Given the description of an element on the screen output the (x, y) to click on. 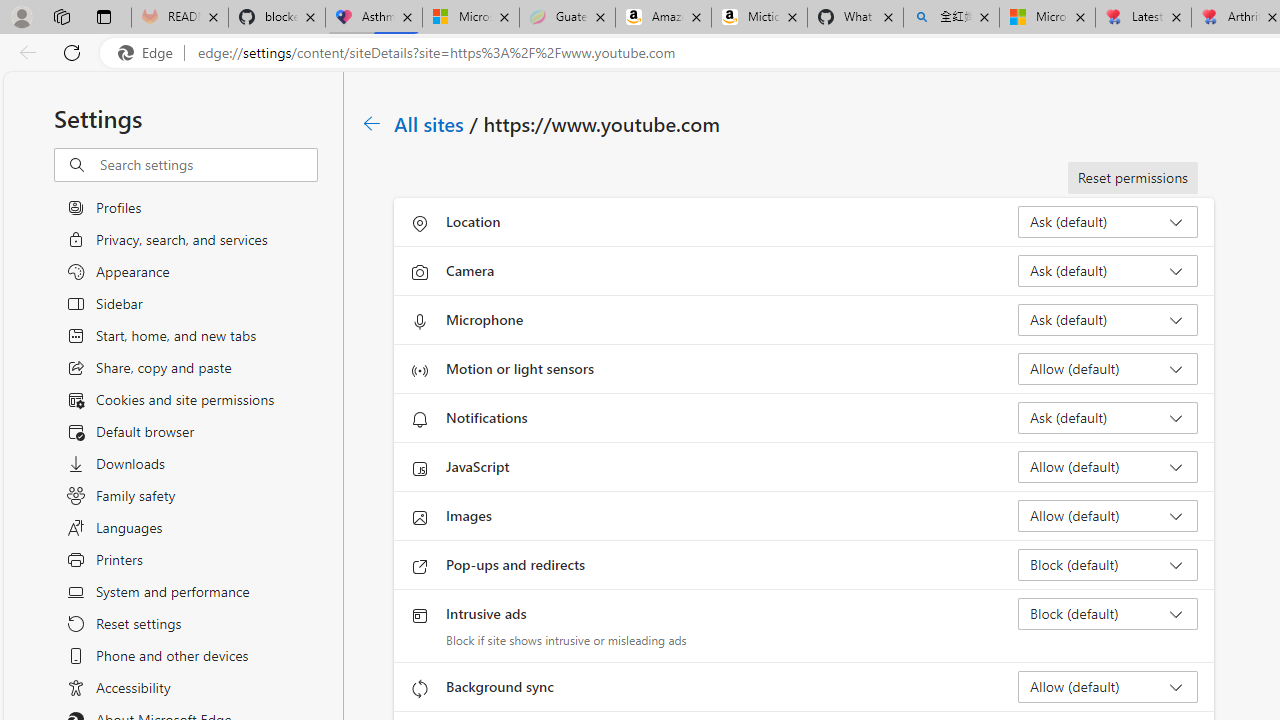
Motion or light sensors Allow (default) (1107, 368)
Microphone Ask (default) (1107, 319)
Go back to All sites page. (372, 123)
Pop-ups and redirects Block (default) (1107, 564)
Intrusive ads Block (default) (1107, 614)
JavaScript Allow (default) (1107, 466)
Images Allow (default) (1107, 515)
